Given the description of an element on the screen output the (x, y) to click on. 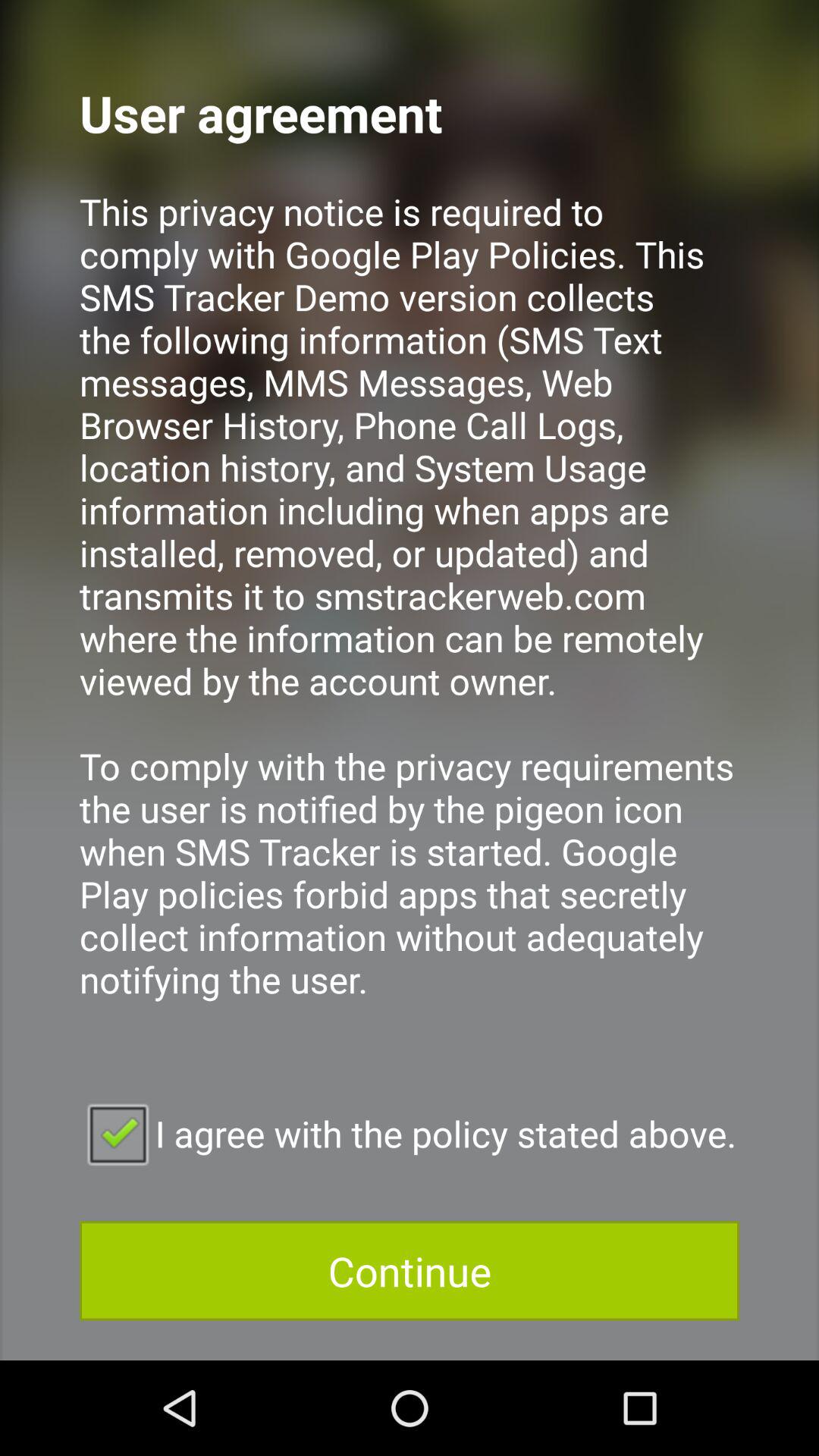
scroll to continue icon (409, 1270)
